Given the description of an element on the screen output the (x, y) to click on. 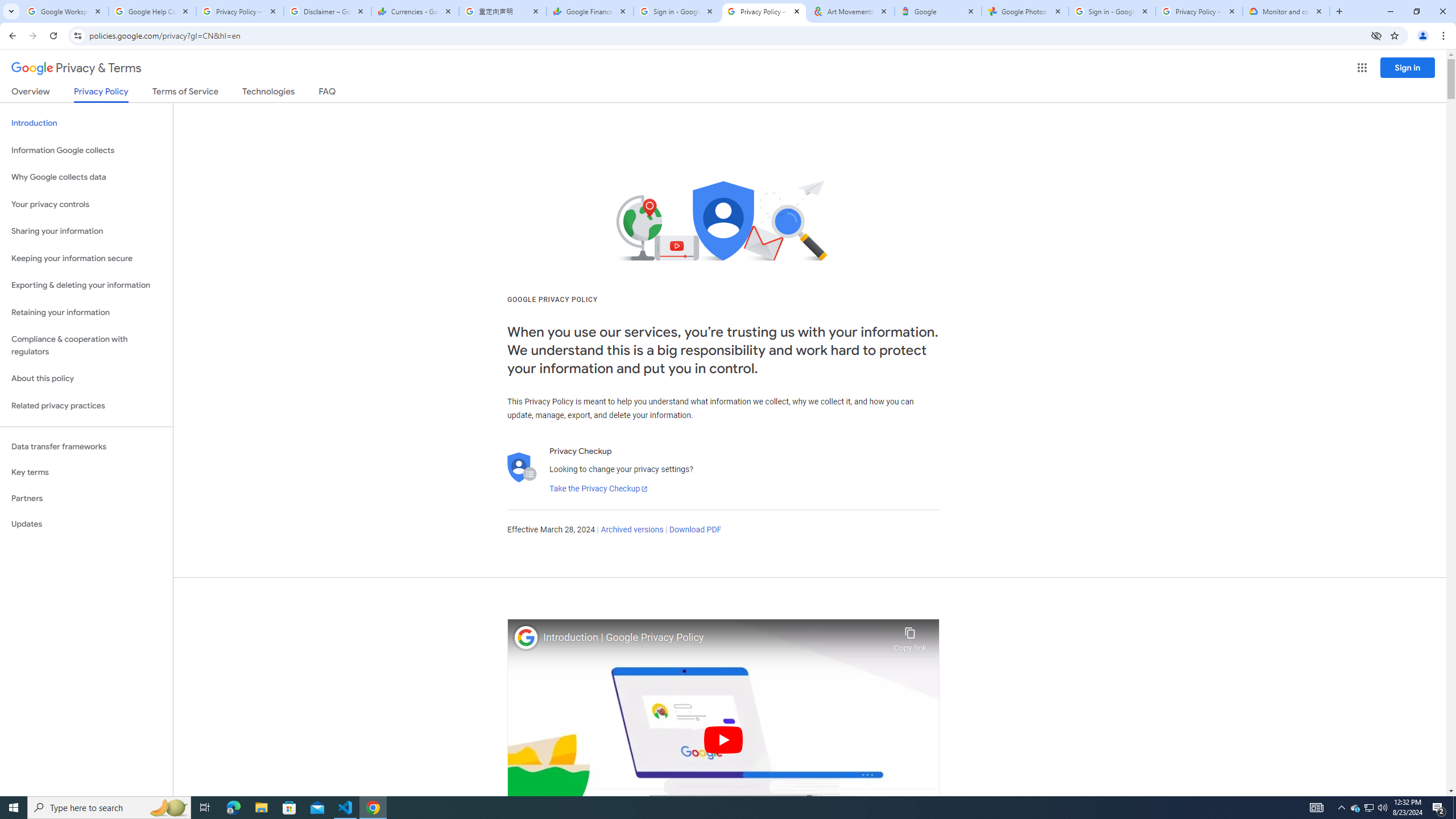
Related privacy practices (86, 405)
Information Google collects (86, 150)
Sign in - Google Accounts (676, 11)
Partners (86, 497)
Keeping your information secure (86, 258)
